Given the description of an element on the screen output the (x, y) to click on. 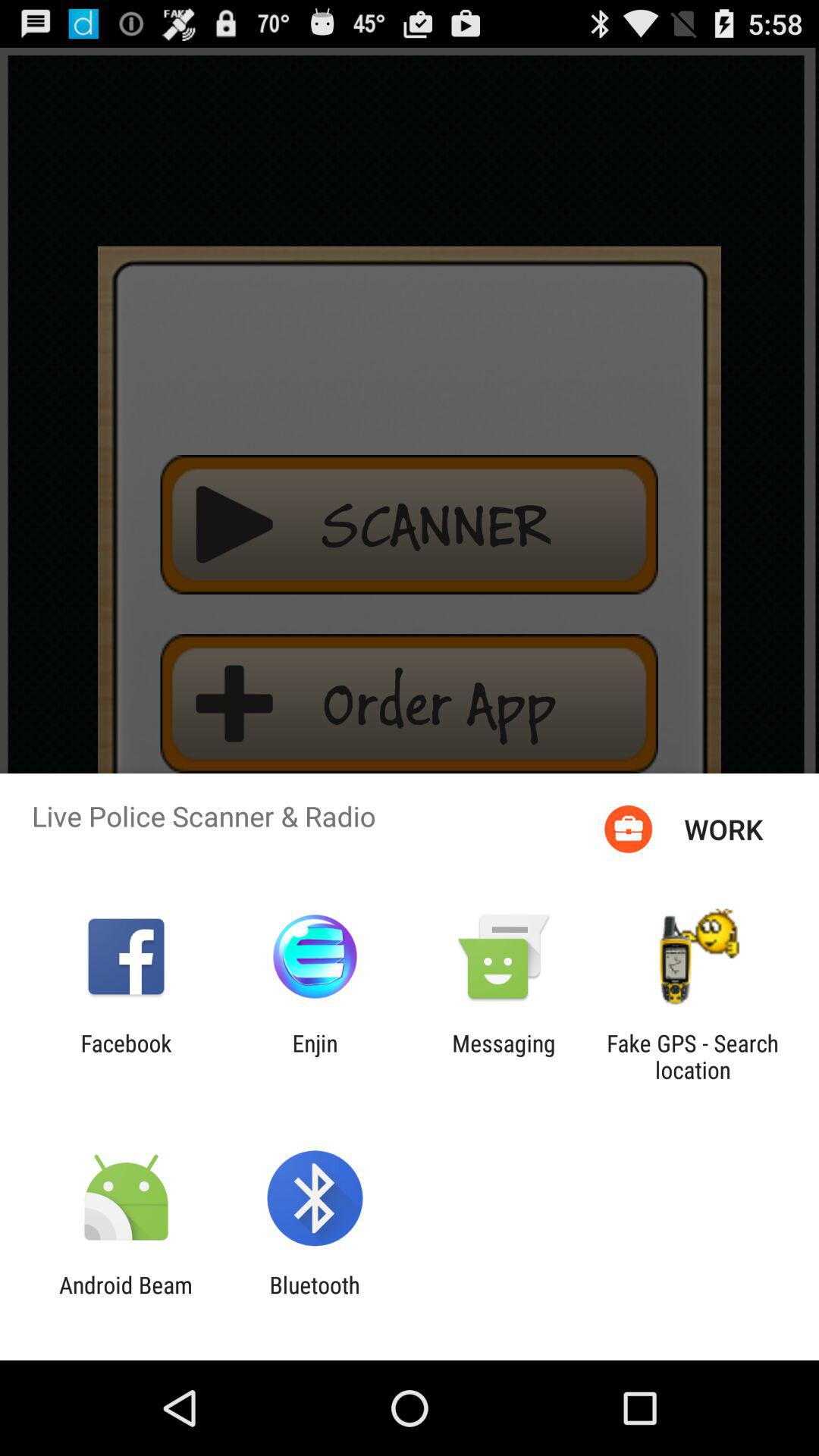
select the android beam item (125, 1298)
